Given the description of an element on the screen output the (x, y) to click on. 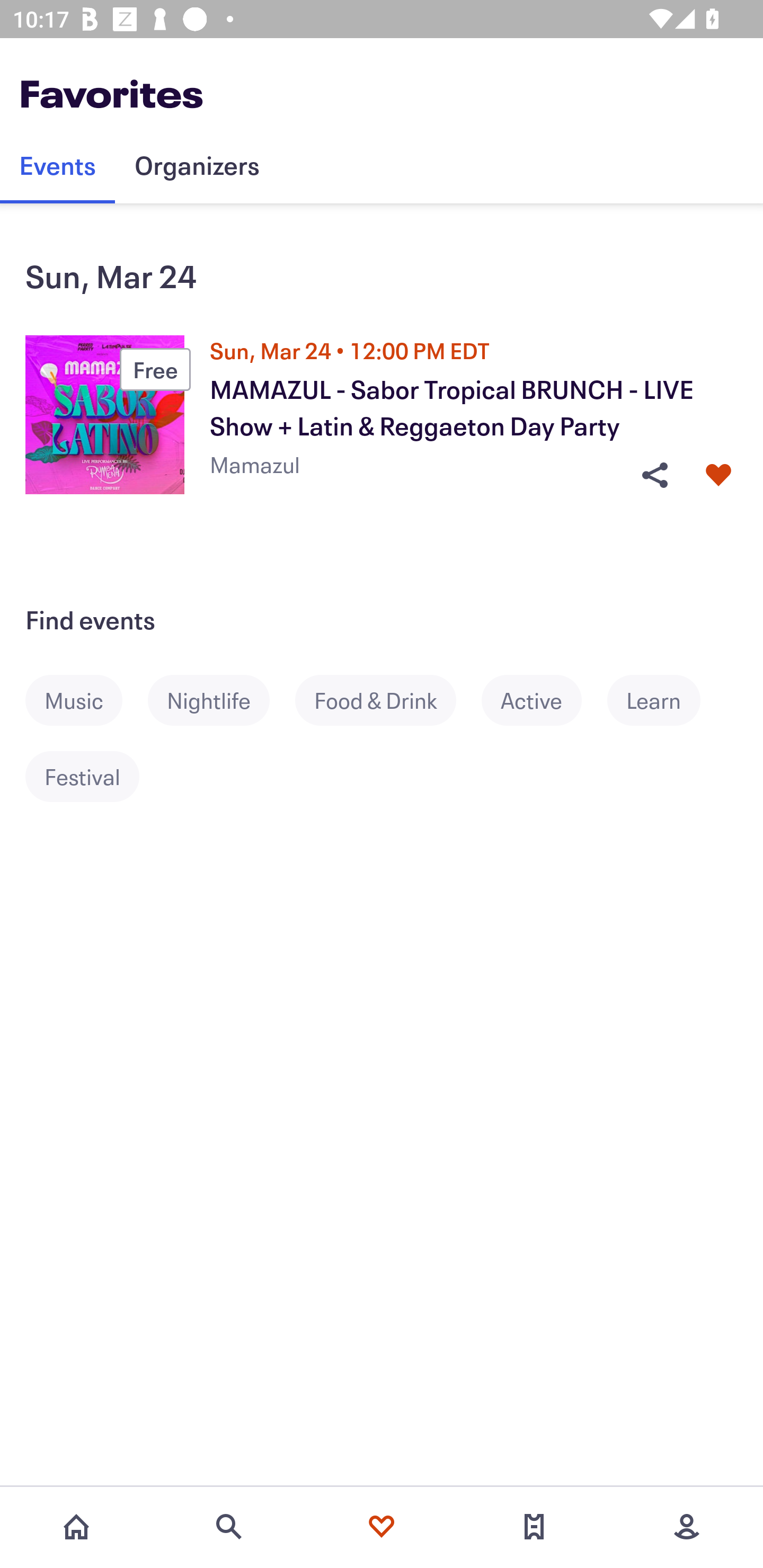
Organizers (196, 165)
Share Event (654, 474)
Unlike event (718, 474)
Music (86, 699)
Nightlife (221, 699)
Food & Drink (388, 699)
Active (544, 699)
Learn (666, 699)
Festival (94, 776)
Home (76, 1526)
Search events (228, 1526)
Favorites (381, 1526)
Tickets (533, 1526)
More (686, 1526)
